Given the description of an element on the screen output the (x, y) to click on. 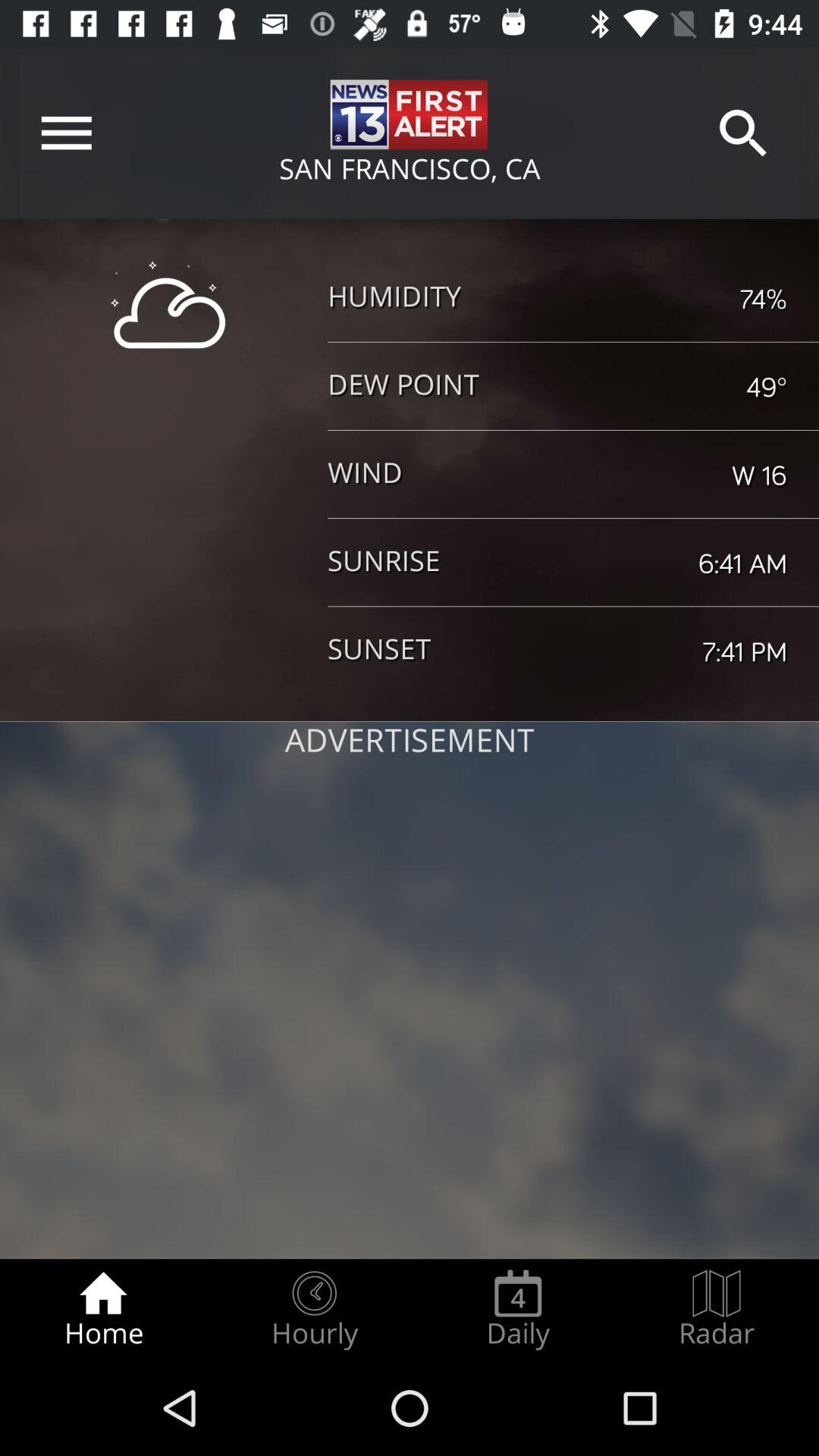
flip until the home item (103, 1309)
